Given the description of an element on the screen output the (x, y) to click on. 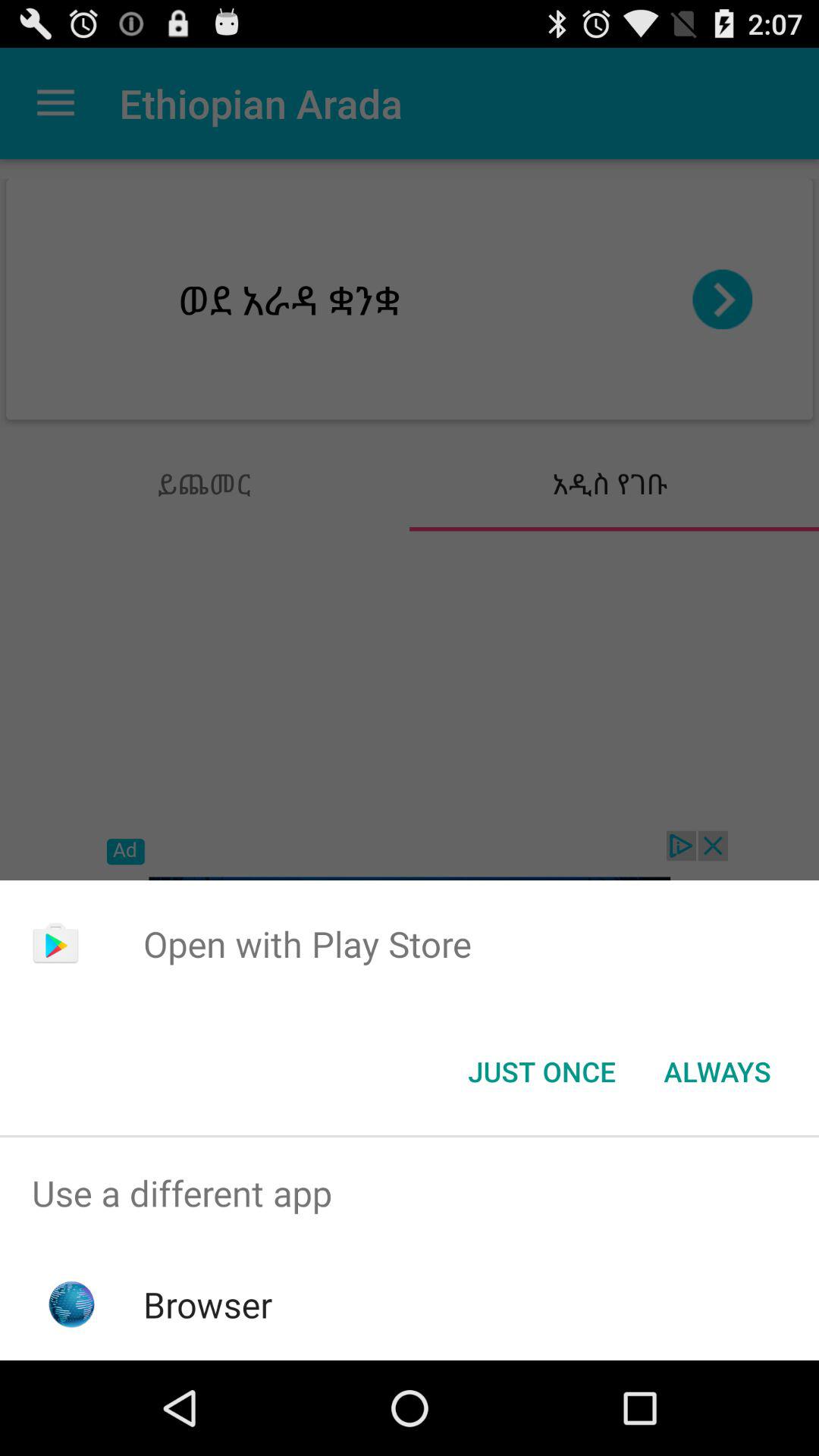
press item above browser icon (409, 1192)
